Given the description of an element on the screen output the (x, y) to click on. 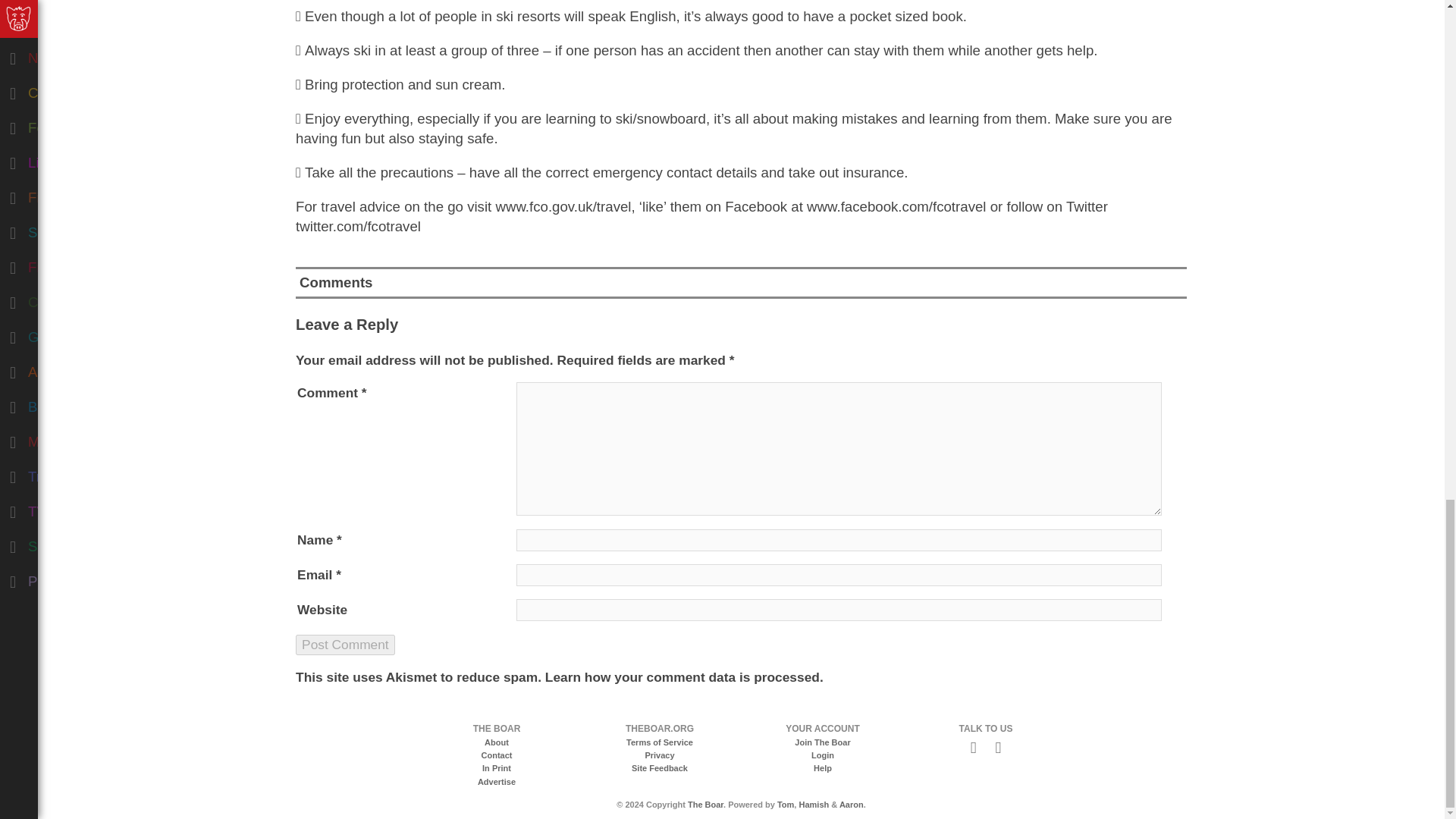
Post Comment (344, 644)
The Boar (705, 804)
In Print (496, 768)
Post Comment (344, 644)
About (496, 741)
Contact (496, 755)
Advertise (496, 781)
Login (822, 755)
Learn how your comment data is processed (681, 676)
